Given the description of an element on the screen output the (x, y) to click on. 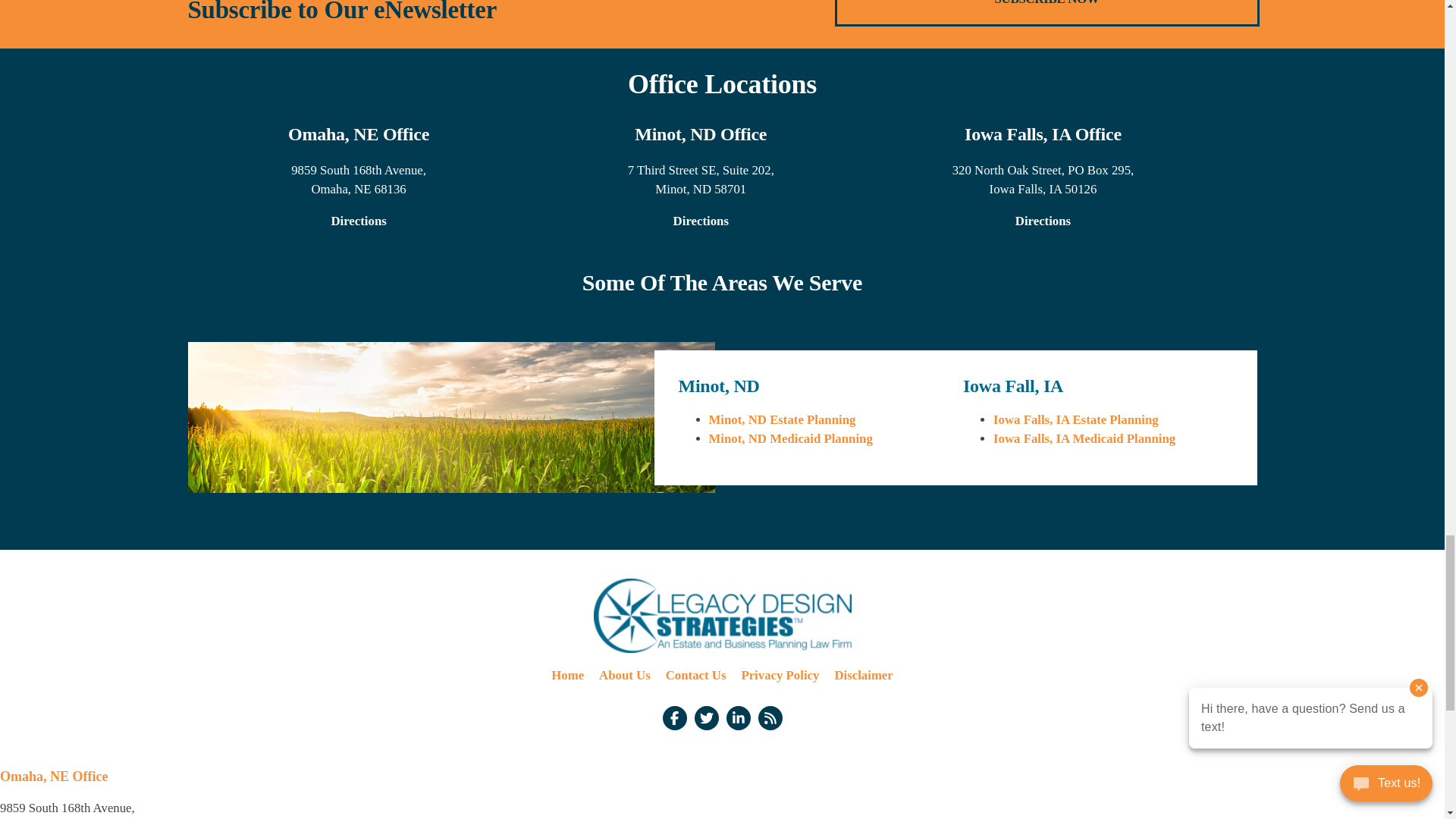
Areas We Serve (450, 417)
Subscribe To Our E-Newsletter (1047, 11)
